Given the description of an element on the screen output the (x, y) to click on. 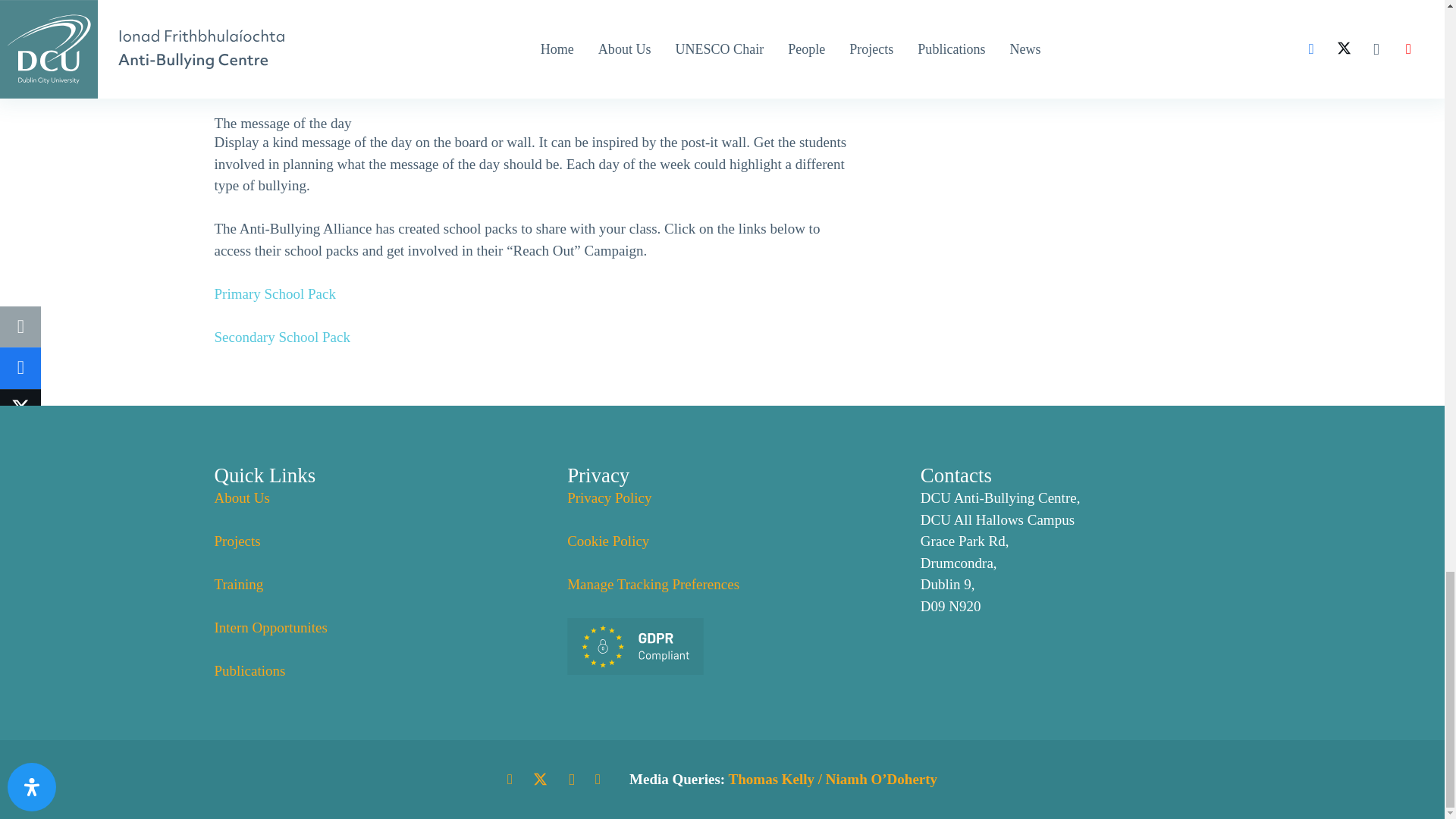
About Us (241, 497)
Manage Tracking Preferences (653, 584)
Privacy Policy (608, 497)
Intern Opportunites (270, 627)
Primary School Pack (274, 293)
Publications (249, 670)
Training (238, 584)
Cookie Policy (608, 540)
Projects (237, 540)
Secondary School Pack (281, 336)
